Given the description of an element on the screen output the (x, y) to click on. 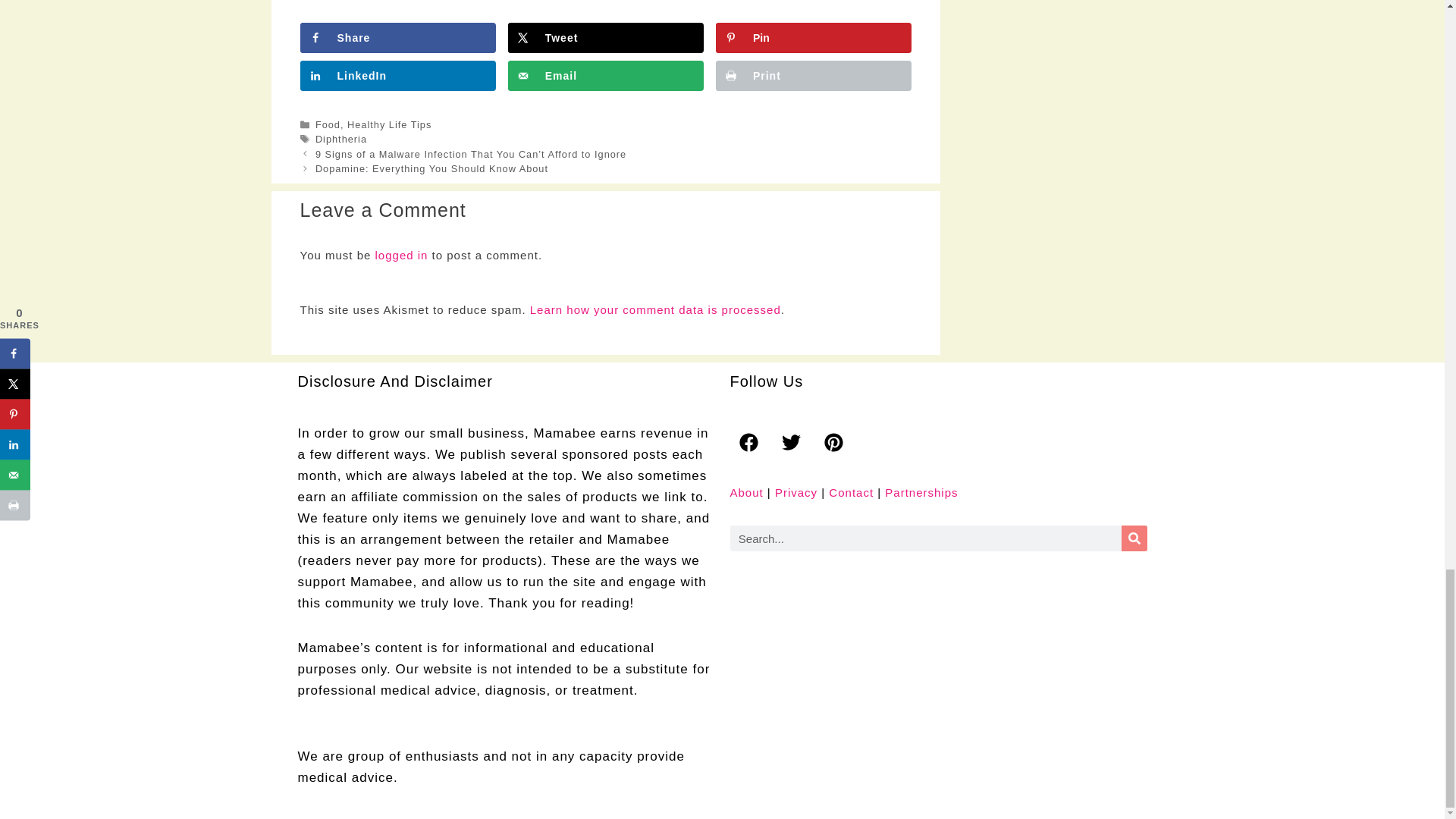
Share on Facebook (397, 37)
Print this webpage (813, 75)
Share on X (605, 37)
Send over email (605, 75)
Share on LinkedIn (397, 75)
Save to Pinterest (813, 37)
